Given the description of an element on the screen output the (x, y) to click on. 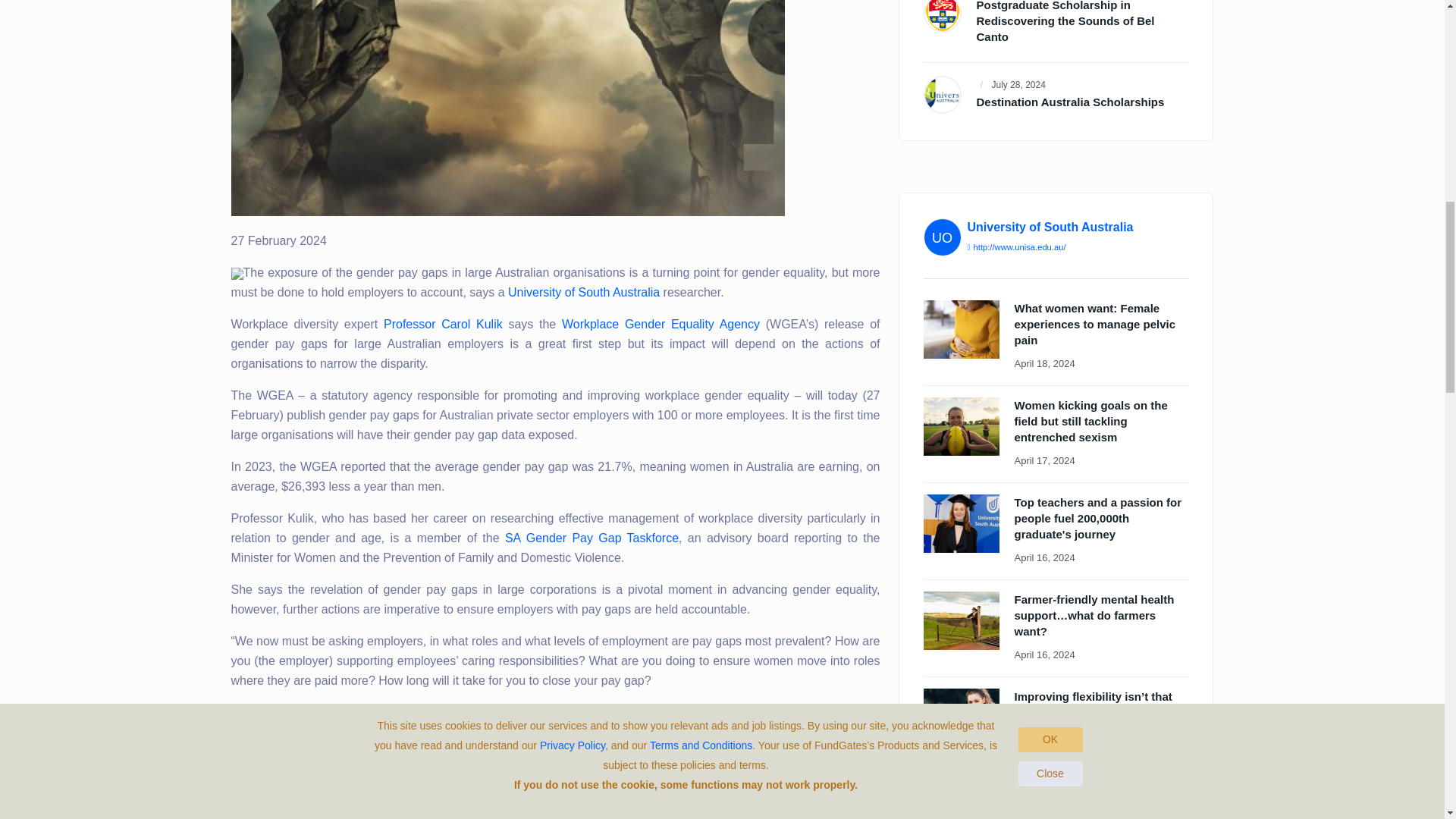
Workplace Gender Equality Agency (661, 323)
Professor Carol Kulik (443, 323)
Researchers have documented (316, 763)
University of Sydney (941, 15)
SA Gender Pay Gap Taskforce (591, 537)
Central Queensland University (941, 94)
University of South Australia (583, 291)
